Given the description of an element on the screen output the (x, y) to click on. 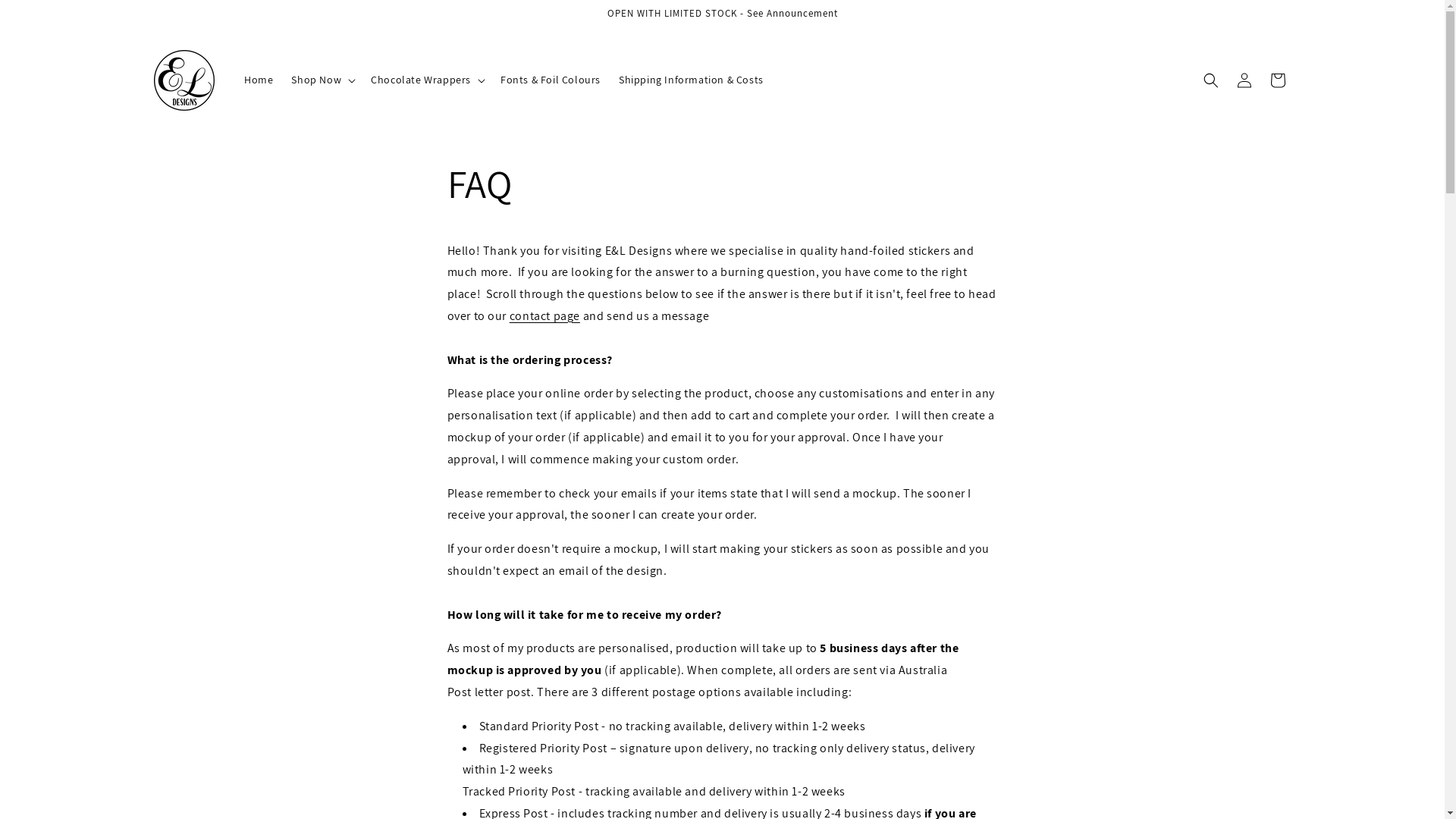
Shipping Information & Costs Element type: text (690, 79)
Home Element type: text (258, 79)
Cart Element type: text (1276, 80)
Log in Element type: text (1243, 80)
contact page Element type: text (544, 315)
Fonts & Foil Colours Element type: text (550, 79)
